Given the description of an element on the screen output the (x, y) to click on. 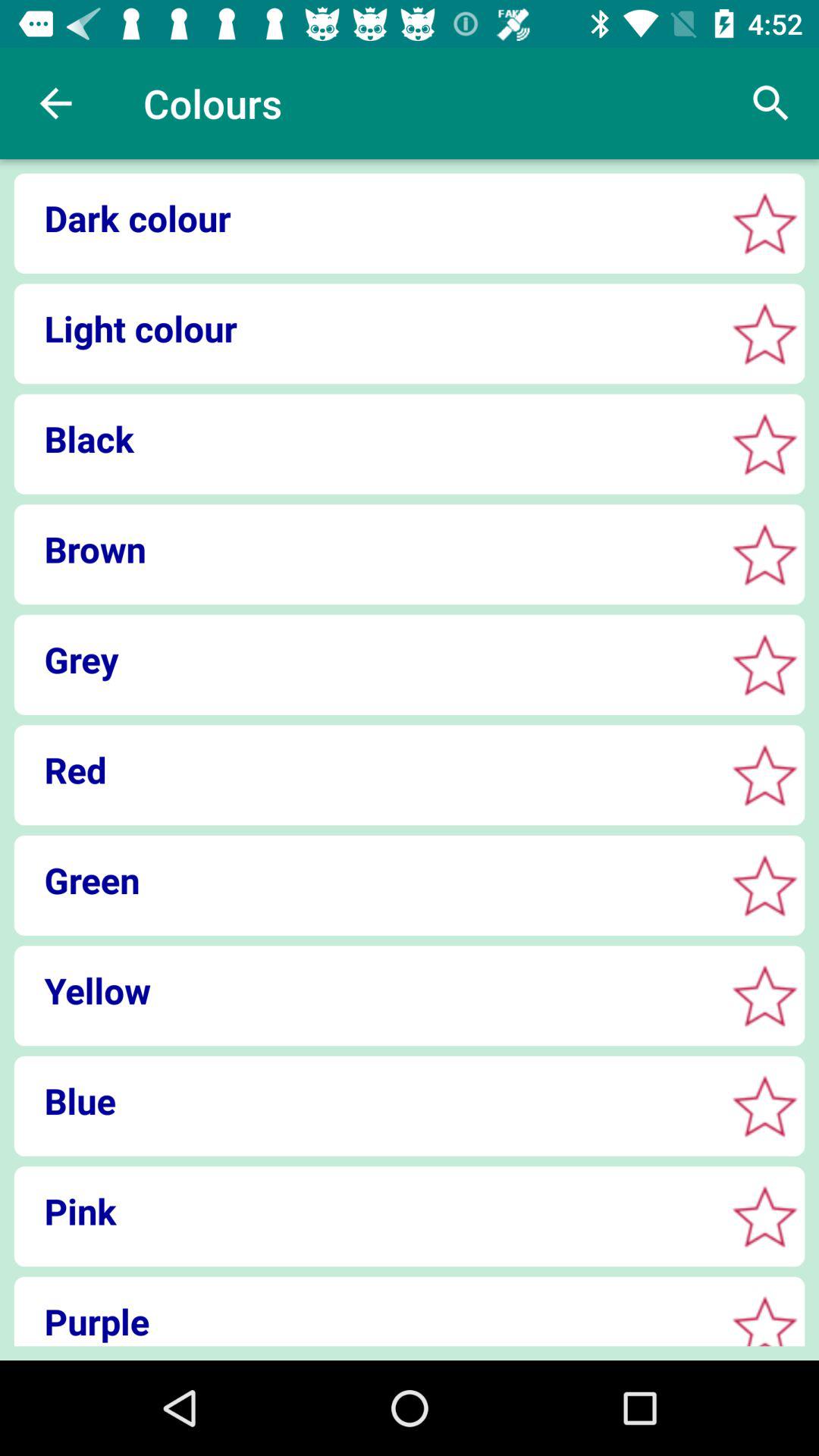
select blue (764, 1106)
